Given the description of an element on the screen output the (x, y) to click on. 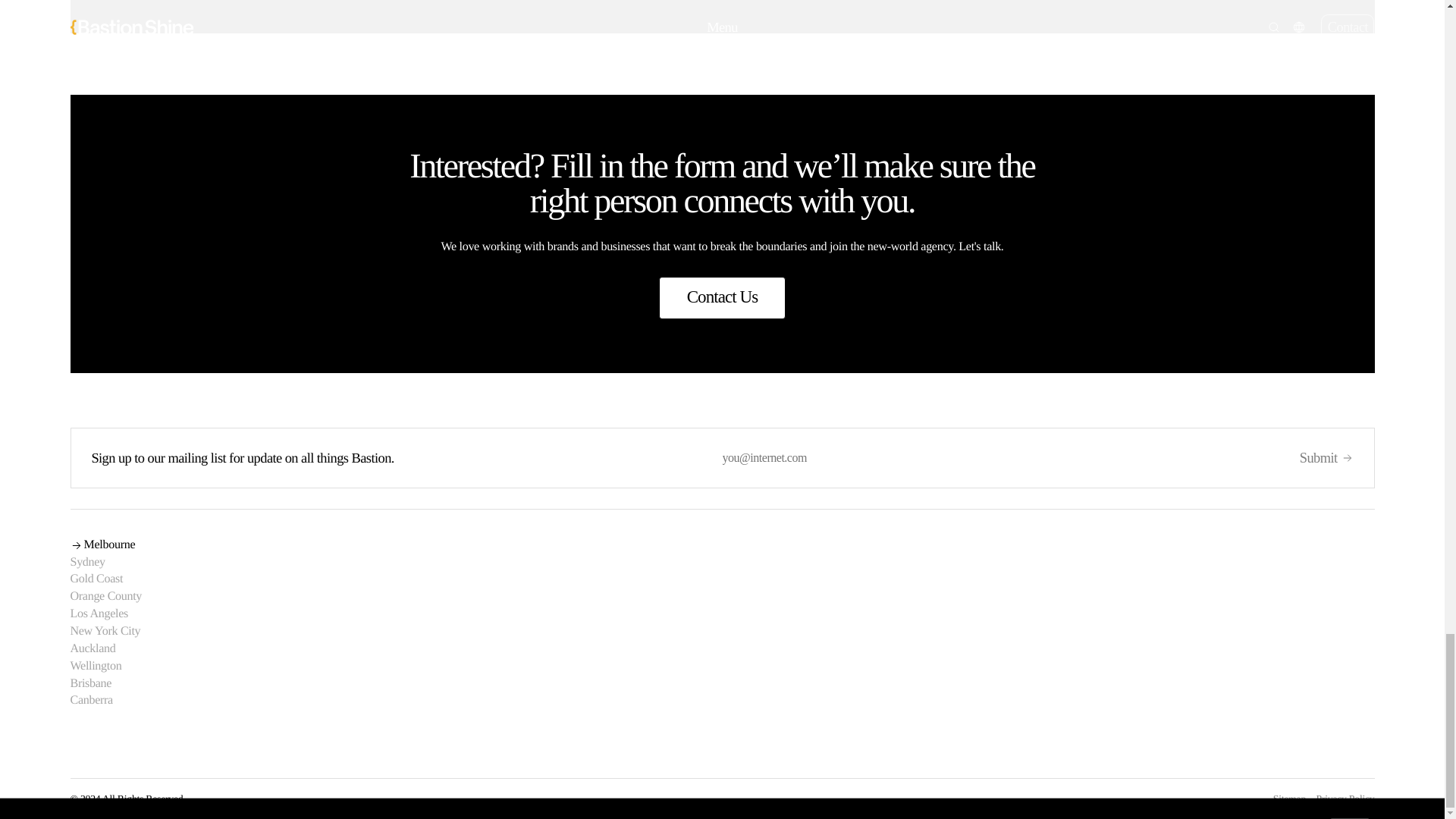
Submit (1327, 457)
Privacy Policy (1345, 798)
Contact Us (722, 297)
Golden Gaytime Bites Photoshoot The Bachelorette (1048, 16)
Sitemap (1289, 798)
Golden Gaytime Bites Photoshoot The Bachelorette (395, 16)
